Given the description of an element on the screen output the (x, y) to click on. 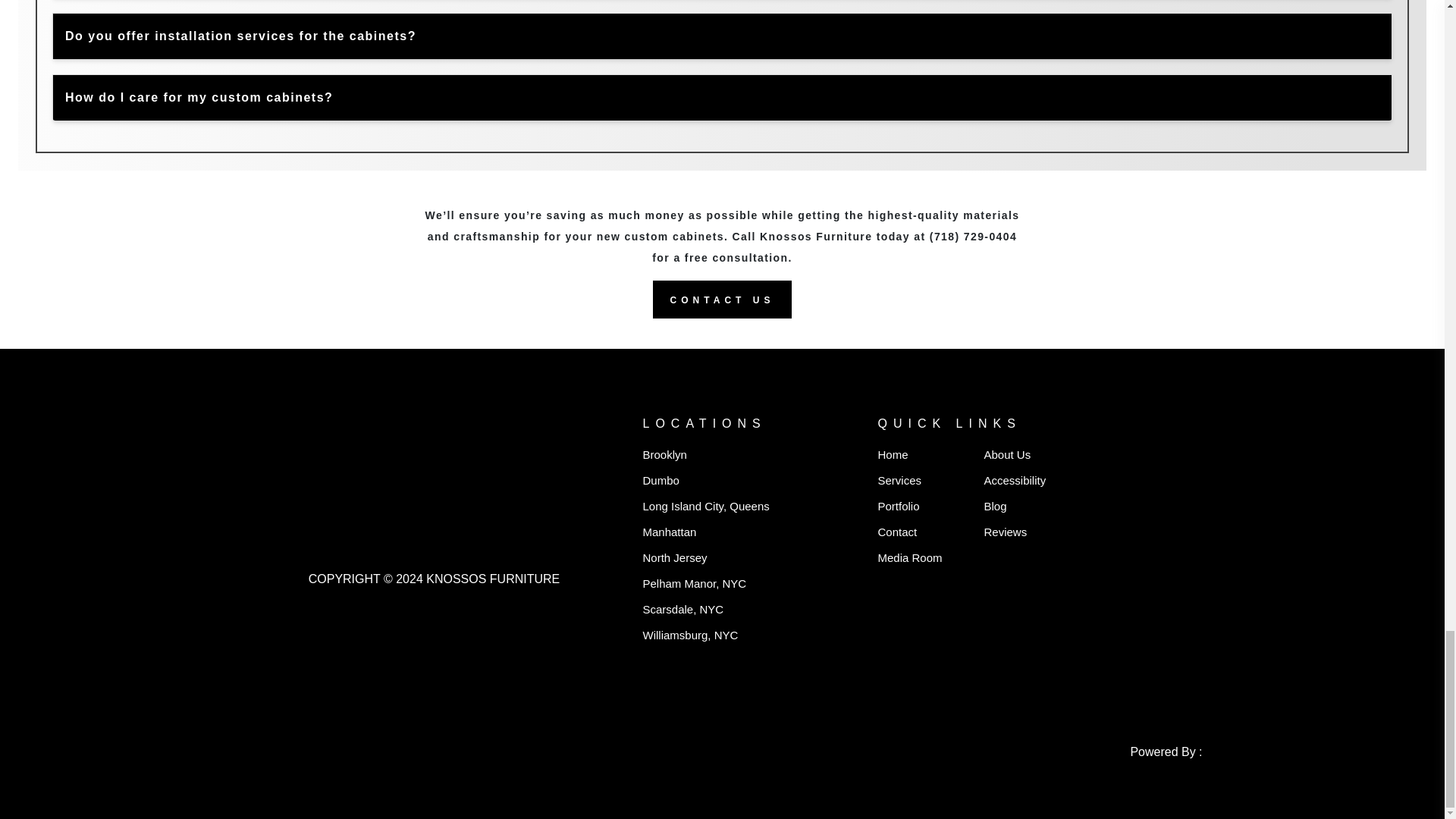
Dumbo (660, 480)
About Us (1007, 454)
North Jersey (674, 557)
Long Island City, Queens (705, 505)
Home (892, 454)
CONTACT US (722, 299)
Scarsdale, NYC (682, 608)
Portfolio (897, 505)
Contact (897, 531)
Brooklyn (663, 454)
